Given the description of an element on the screen output the (x, y) to click on. 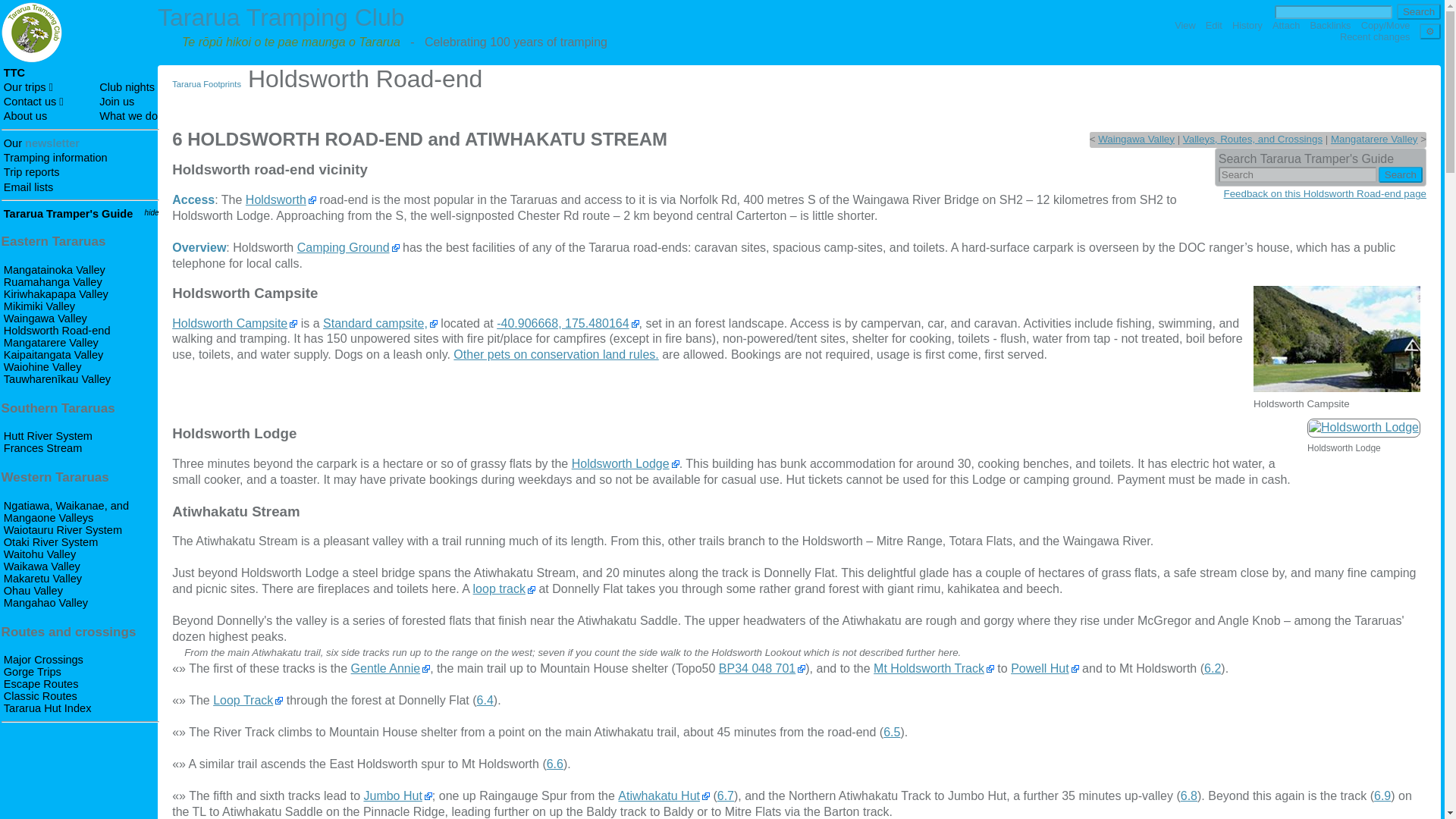
become a member of TTC (116, 101)
Ruamahanga Valley (52, 282)
Recent changes (1374, 36)
Tramping information (55, 157)
Edit (1214, 25)
Kaipaitangata Valley (53, 354)
Holdsworth Road-end (57, 330)
club officer and volunteer list (34, 101)
Section 1 (54, 269)
Search (1400, 174)
Email lists (28, 186)
Club nights (126, 87)
Trip reports (31, 172)
subscribe to our trip information lists (28, 186)
What we do (128, 115)
